Given the description of an element on the screen output the (x, y) to click on. 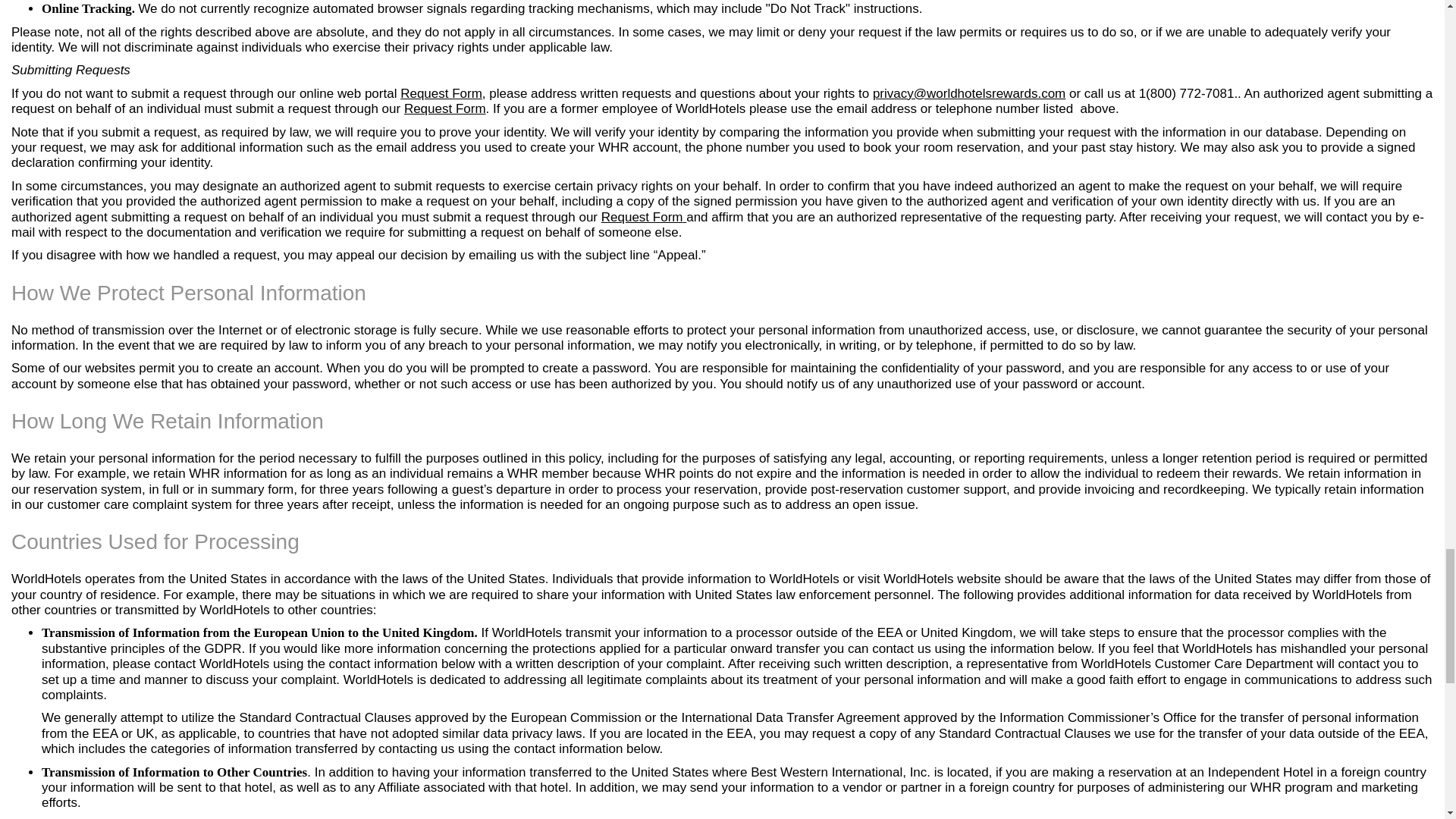
Request Form (440, 93)
Request Form (641, 216)
Authrozed Agent Request Form (641, 216)
Request Form (445, 108)
Authrozed Agent Request Form (445, 108)
email written request (968, 93)
Request Form (440, 93)
